Given the description of an element on the screen output the (x, y) to click on. 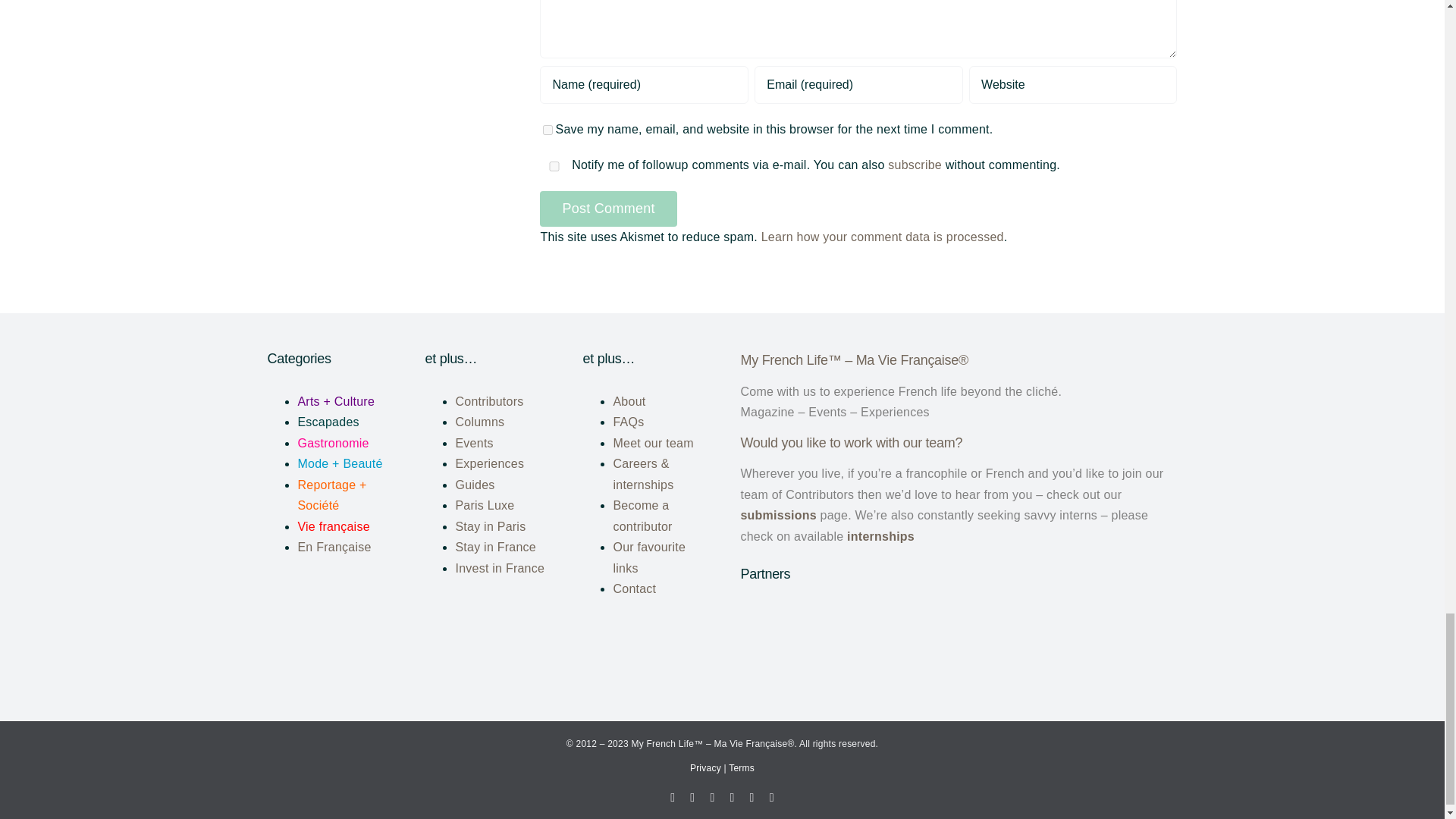
Post Comment (608, 208)
yes (548, 130)
yes (554, 166)
